Given the description of an element on the screen output the (x, y) to click on. 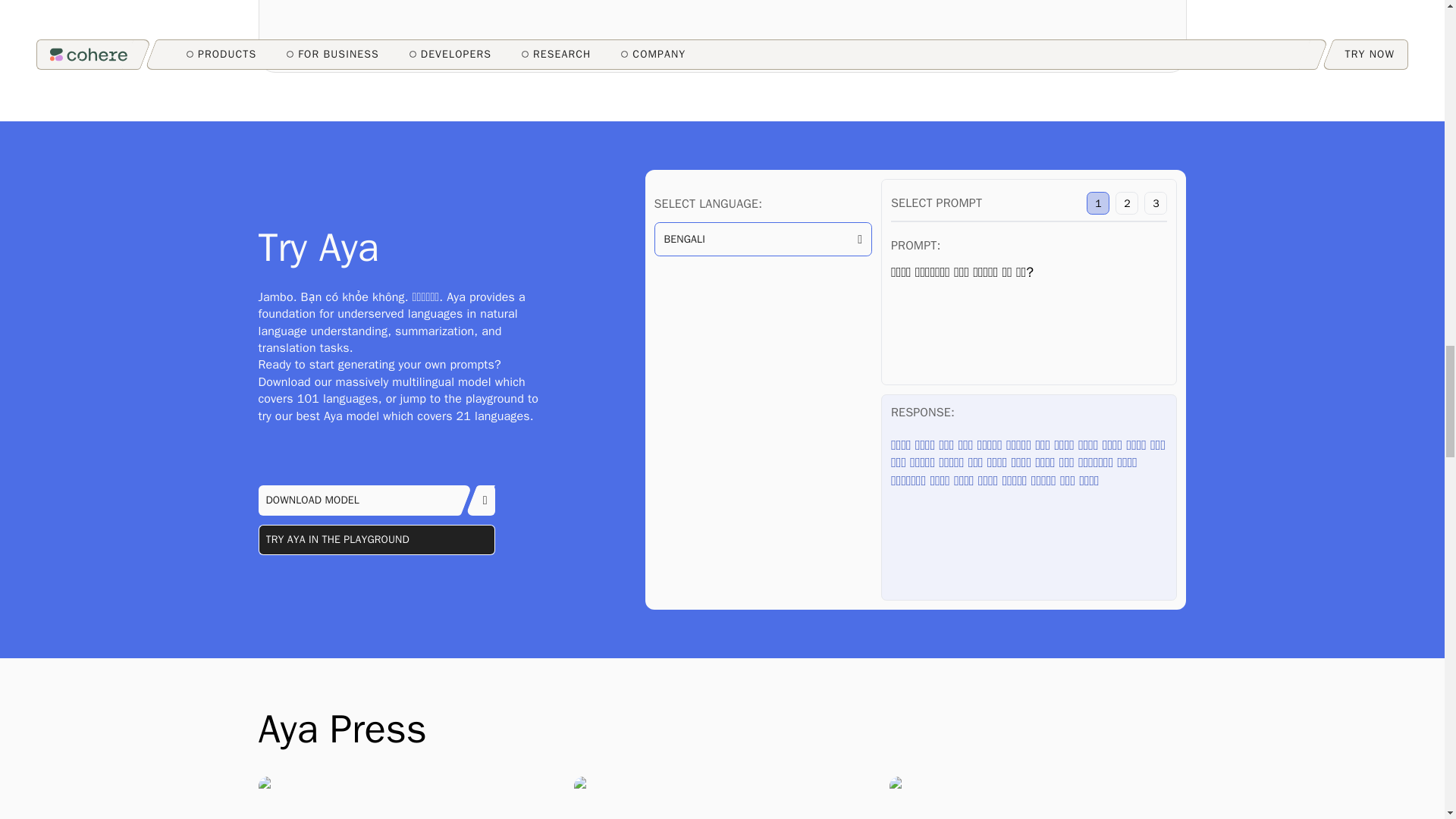
3 (1155, 202)
BENGALI (761, 239)
DOWNLOAD MODEL (376, 500)
2 (1126, 202)
1 (1097, 202)
TRY AYA IN THE PLAYGROUND (376, 539)
